Given the description of an element on the screen output the (x, y) to click on. 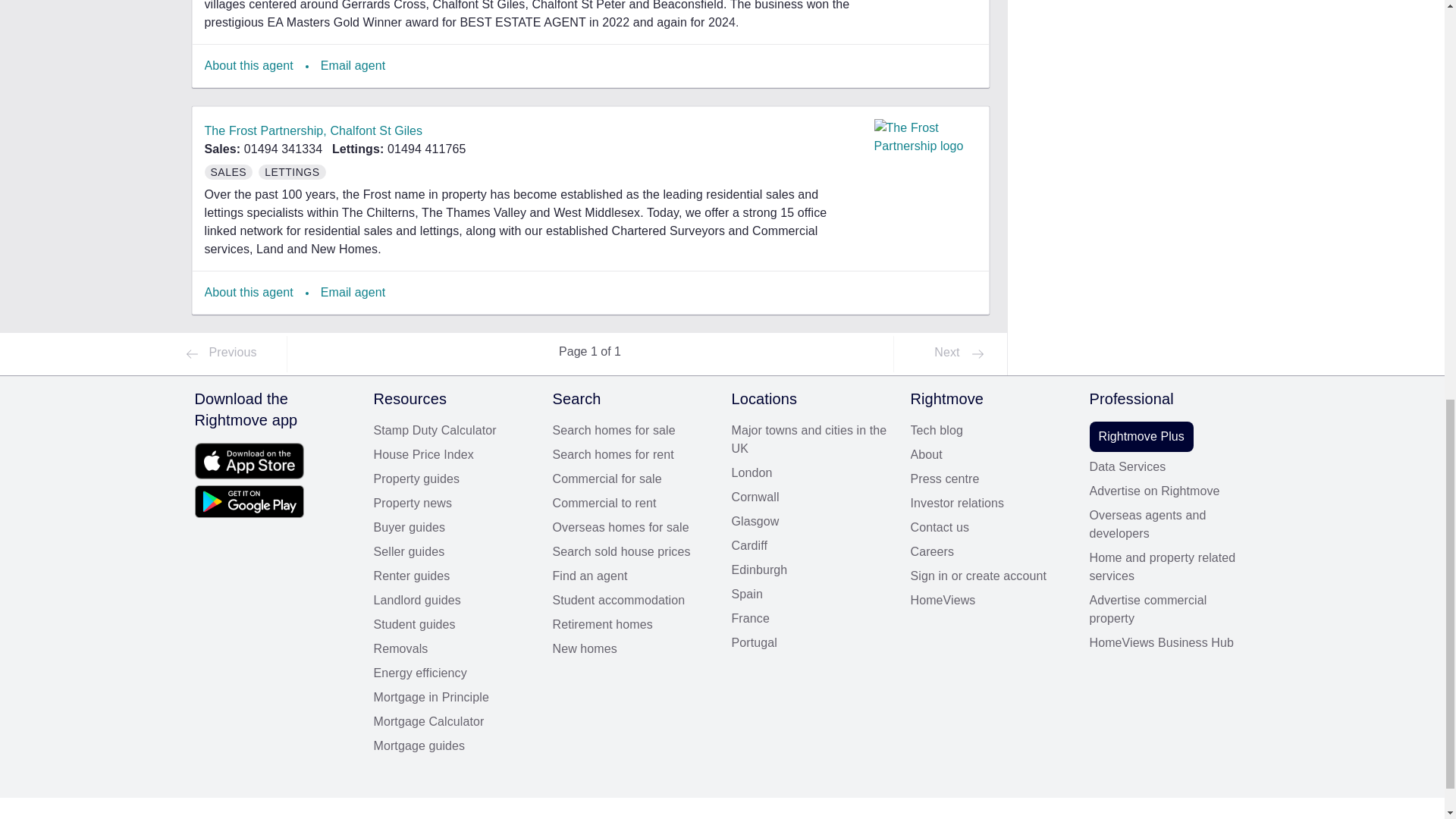
Landlord guides (453, 600)
Property guides (453, 479)
Commercial for sale (632, 479)
Removals (453, 648)
Search homes for rent (632, 454)
Property news (453, 503)
Renter guides (453, 576)
Search sold house prices (632, 551)
Buyer guides (453, 527)
Commercial to rent (632, 503)
Mortgage in Principle (453, 697)
Energy efficiency (453, 673)
Stamp duty calculator (453, 430)
Student guides (453, 624)
Search homes for sale (632, 430)
